Given the description of an element on the screen output the (x, y) to click on. 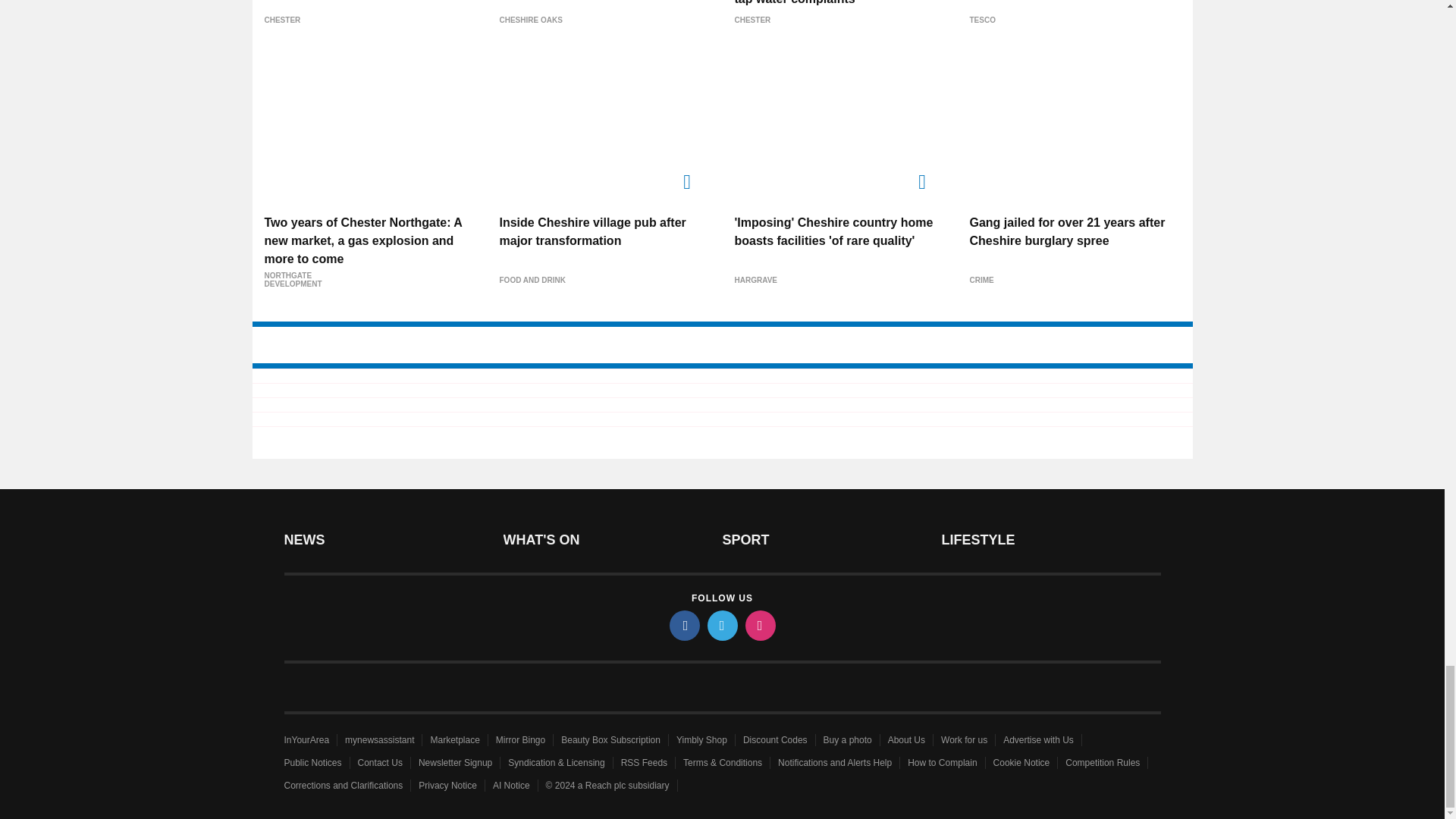
instagram (759, 625)
twitter (721, 625)
facebook (683, 625)
